Given the description of an element on the screen output the (x, y) to click on. 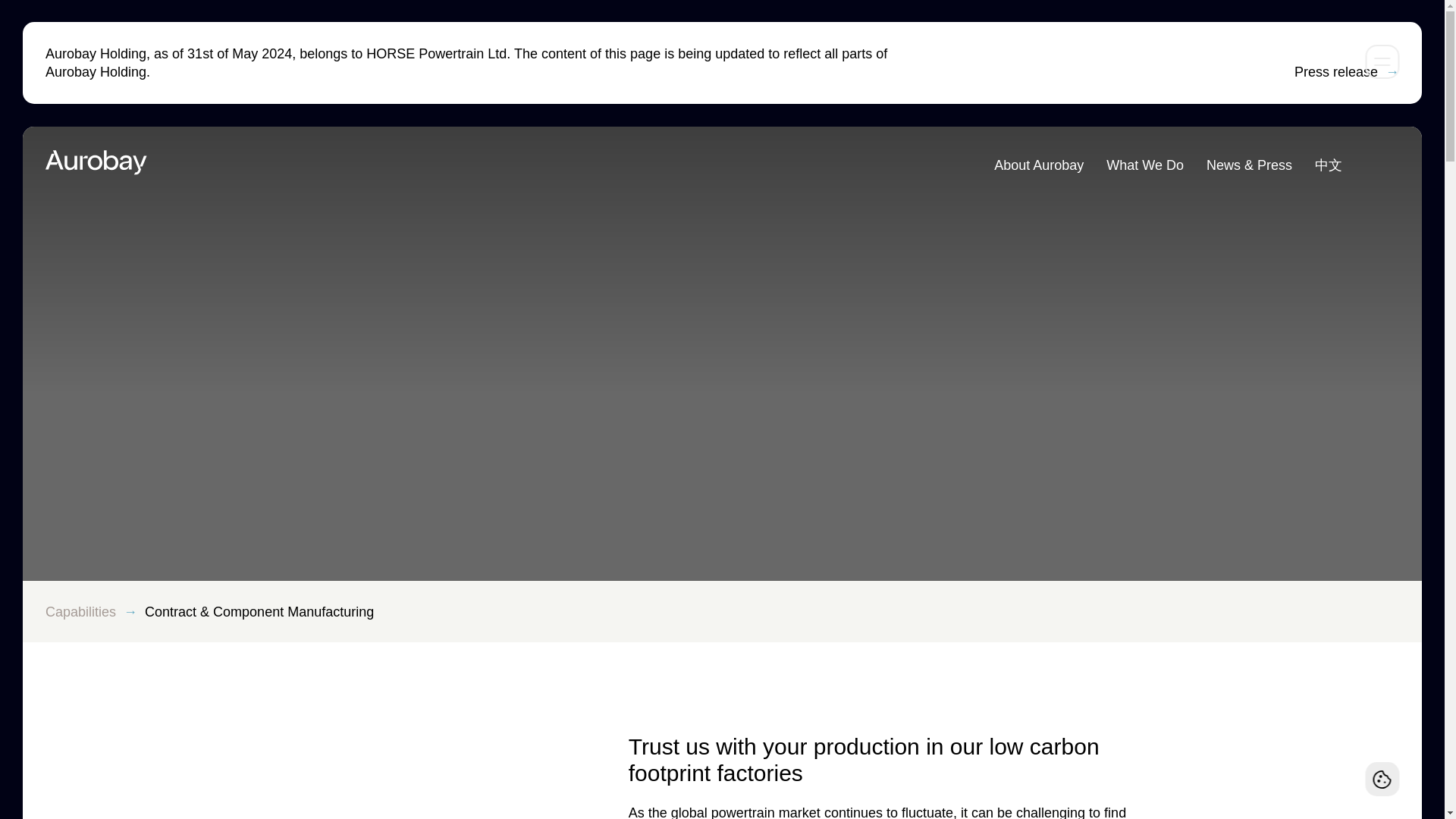
Read our news and press (1249, 165)
About Aurobay (1038, 165)
What We Do (1144, 165)
Read more about Aurobay (1038, 165)
Capabilities (80, 611)
Read about what we do (1144, 165)
Press release (1346, 72)
